Given the description of an element on the screen output the (x, y) to click on. 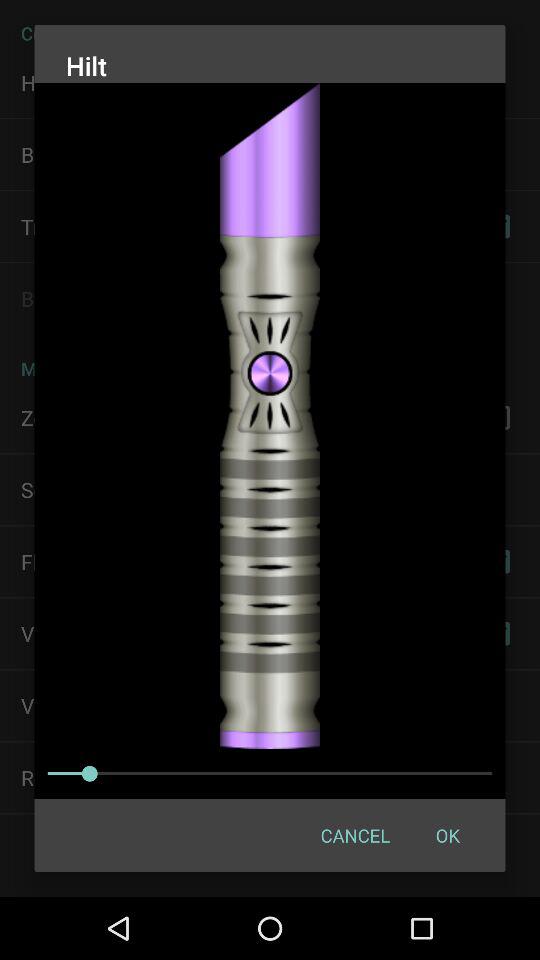
select item at the bottom right corner (447, 834)
